Given the description of an element on the screen output the (x, y) to click on. 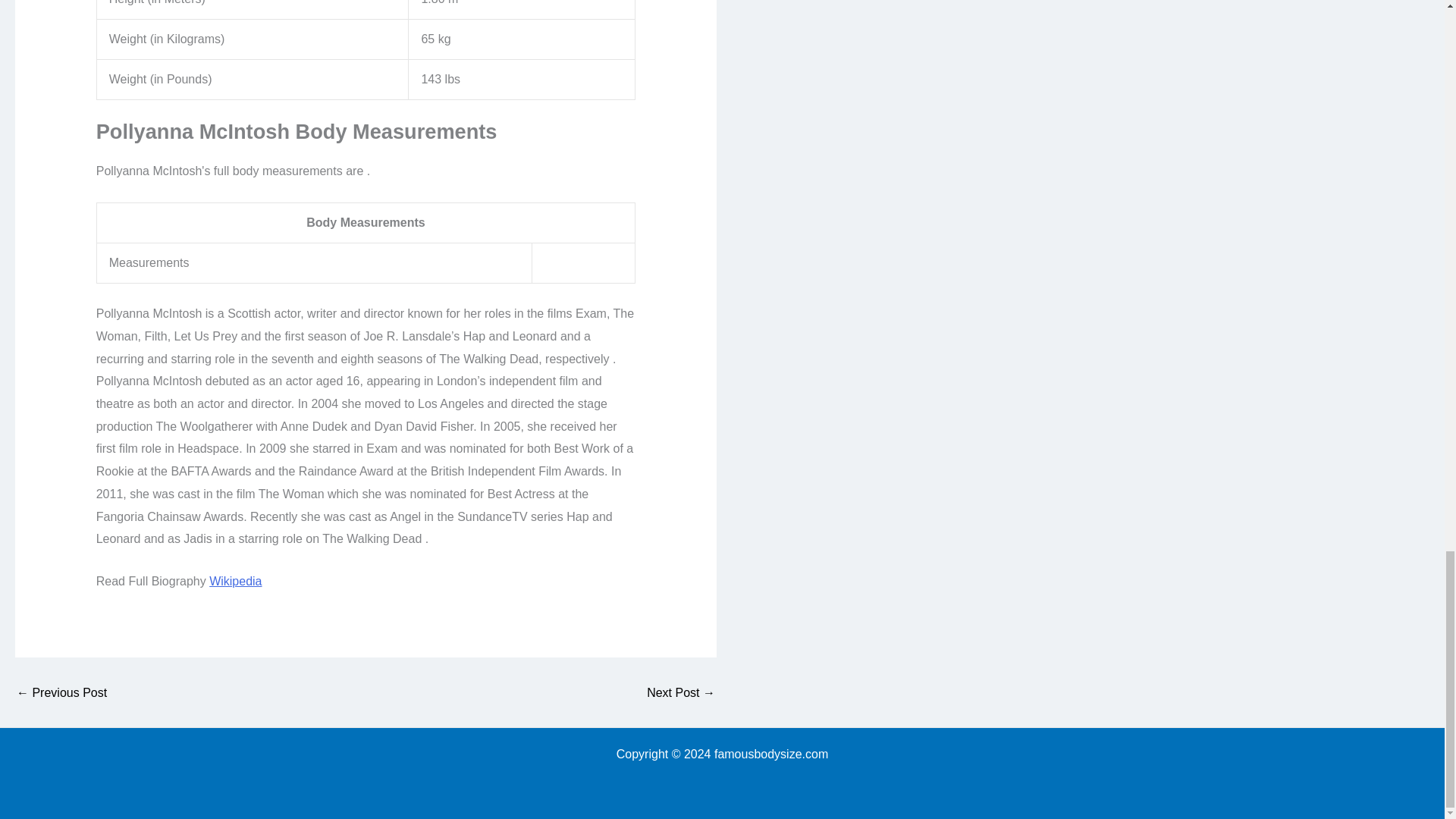
Wikipedia (235, 581)
Chloe Marshall (61, 693)
Kate Garraway (680, 693)
